Given the description of an element on the screen output the (x, y) to click on. 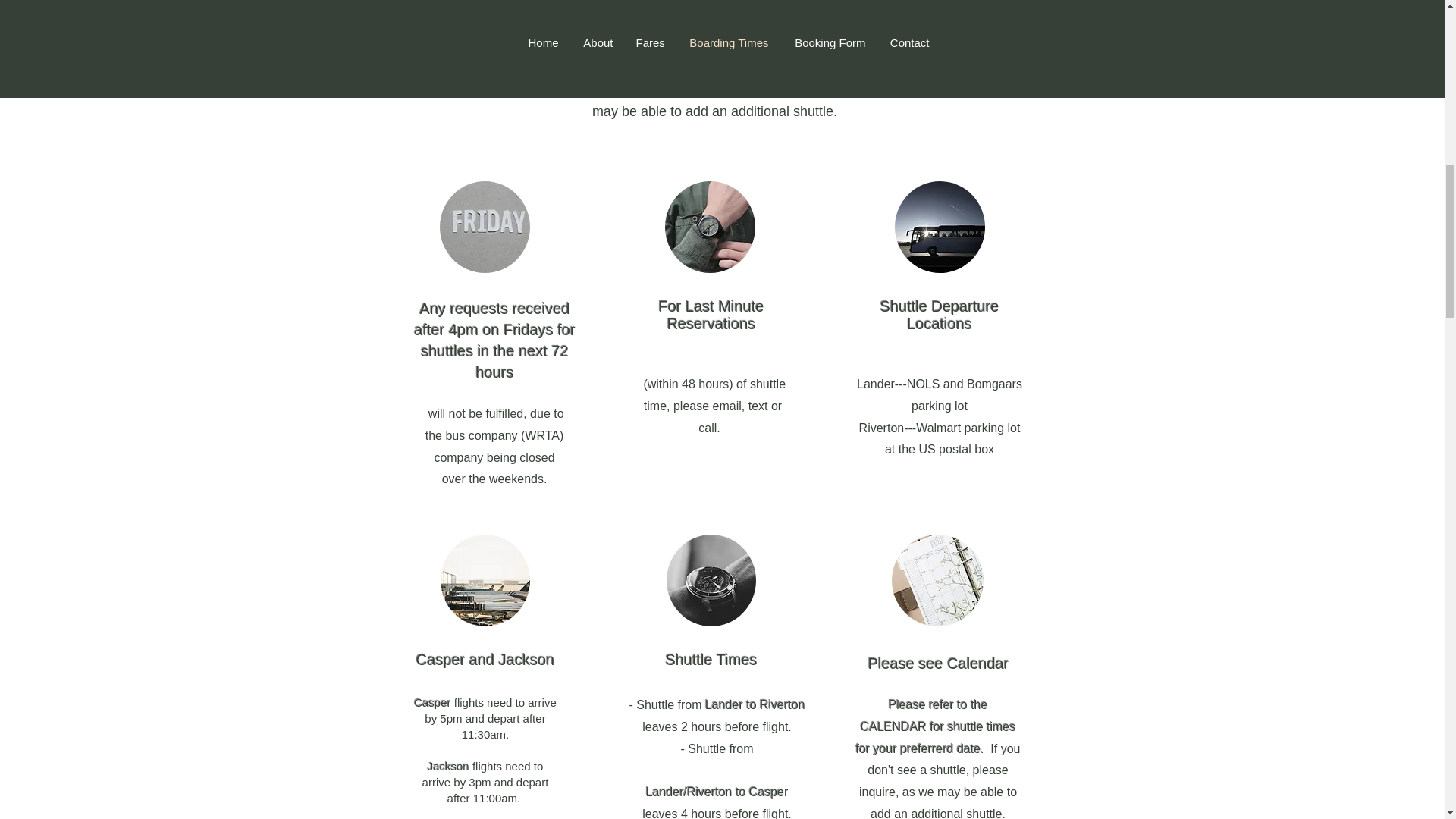
CALENDAR (766, 62)
